Given the description of an element on the screen output the (x, y) to click on. 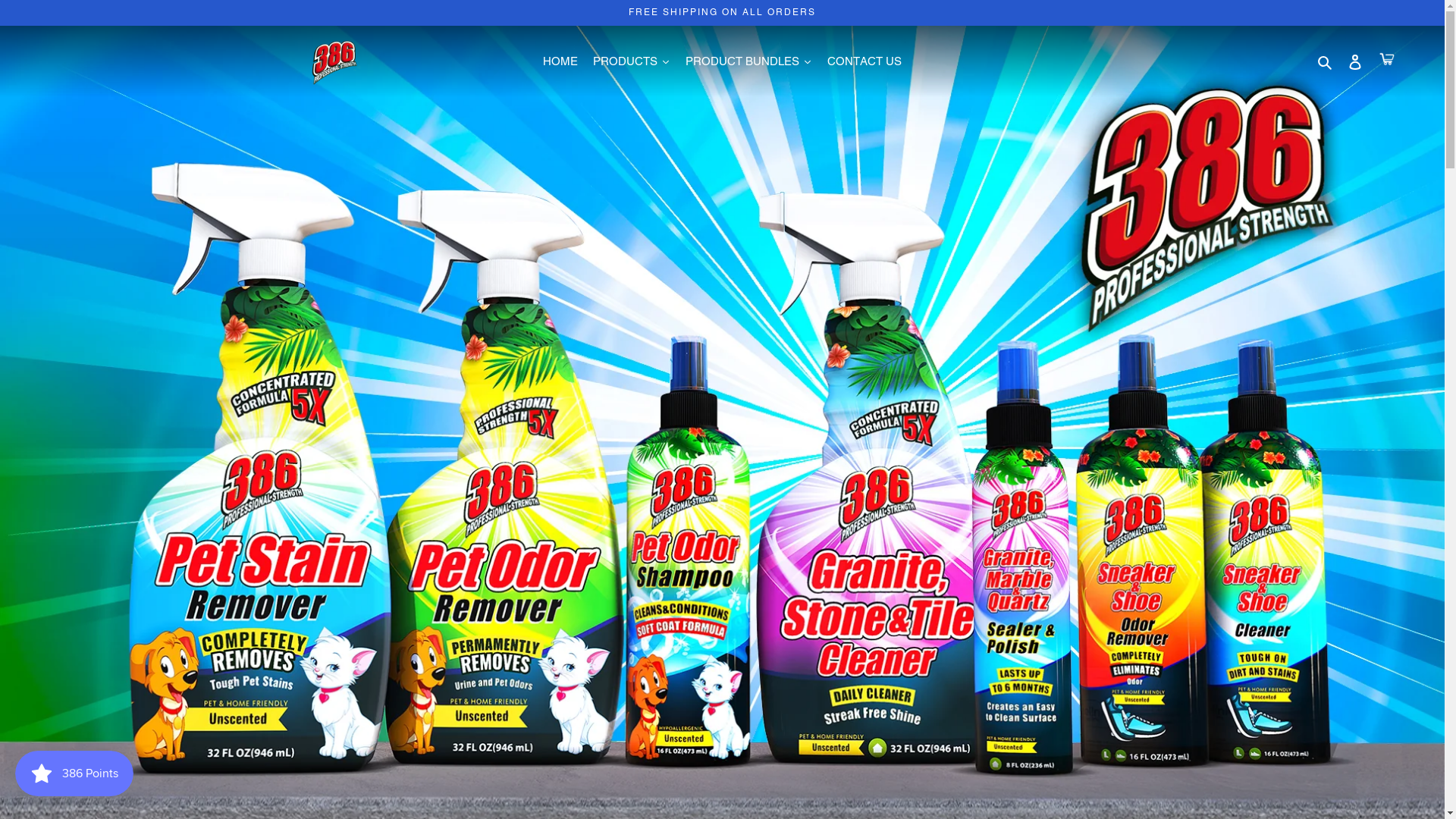
PRODUCTS Element type: text (631, 61)
Cart Element type: text (1386, 61)
CONTACT US Element type: text (864, 61)
Smile.io Rewards Program Launcher Element type: hover (74, 773)
Search Element type: text (1325, 61)
Log in Element type: text (1355, 61)
HOME Element type: text (560, 61)
PRODUCT BUNDLES Element type: text (748, 61)
